Given the description of an element on the screen output the (x, y) to click on. 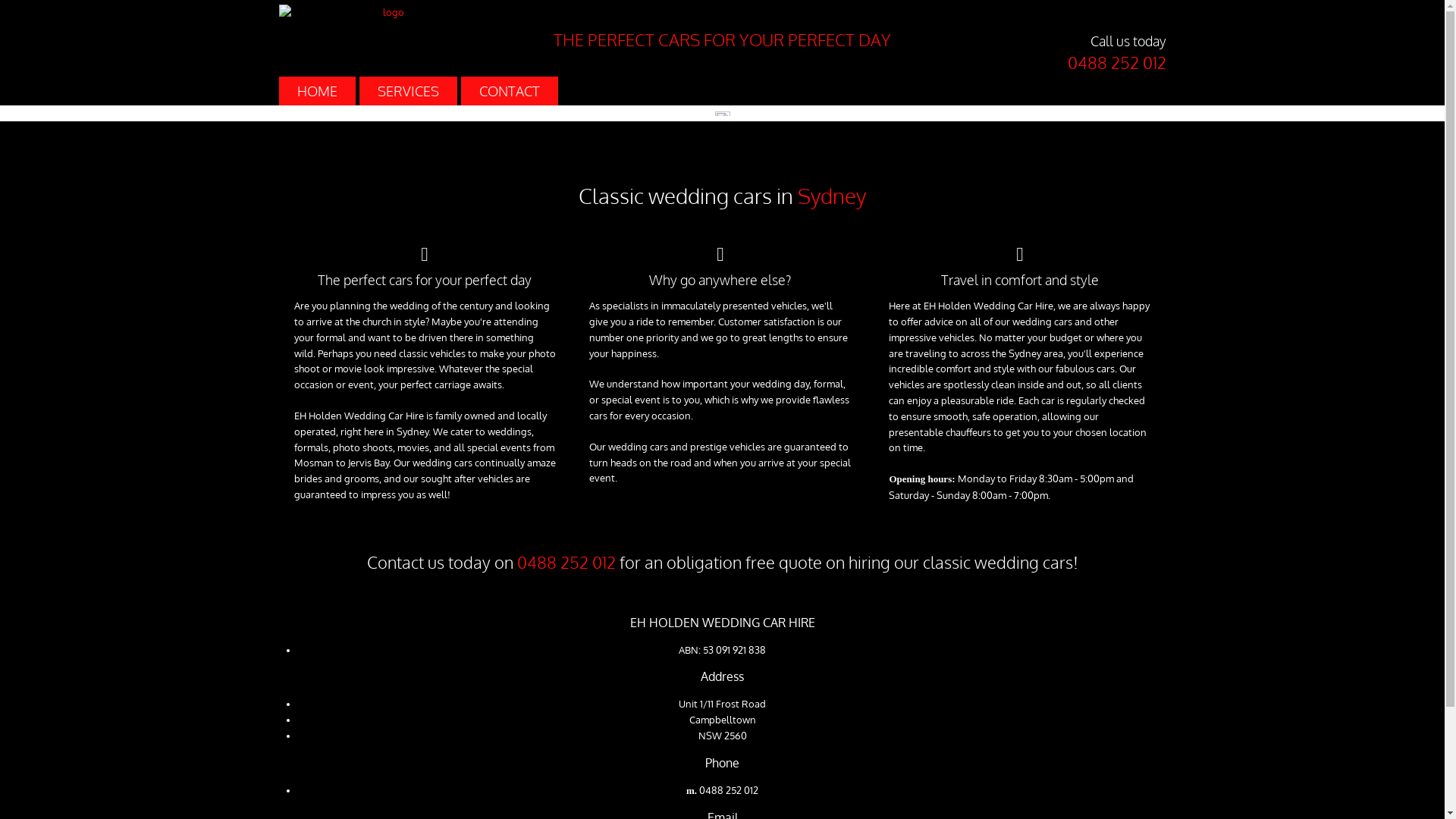
0488 252 012 Element type: text (1116, 62)
logo Element type: hover (388, 12)
0488 252 012 Element type: text (566, 562)
0488 252 012 Element type: text (728, 790)
CONTACT Element type: text (509, 90)
SERVICES Element type: text (408, 90)
HOME Element type: text (317, 90)
